Given the description of an element on the screen output the (x, y) to click on. 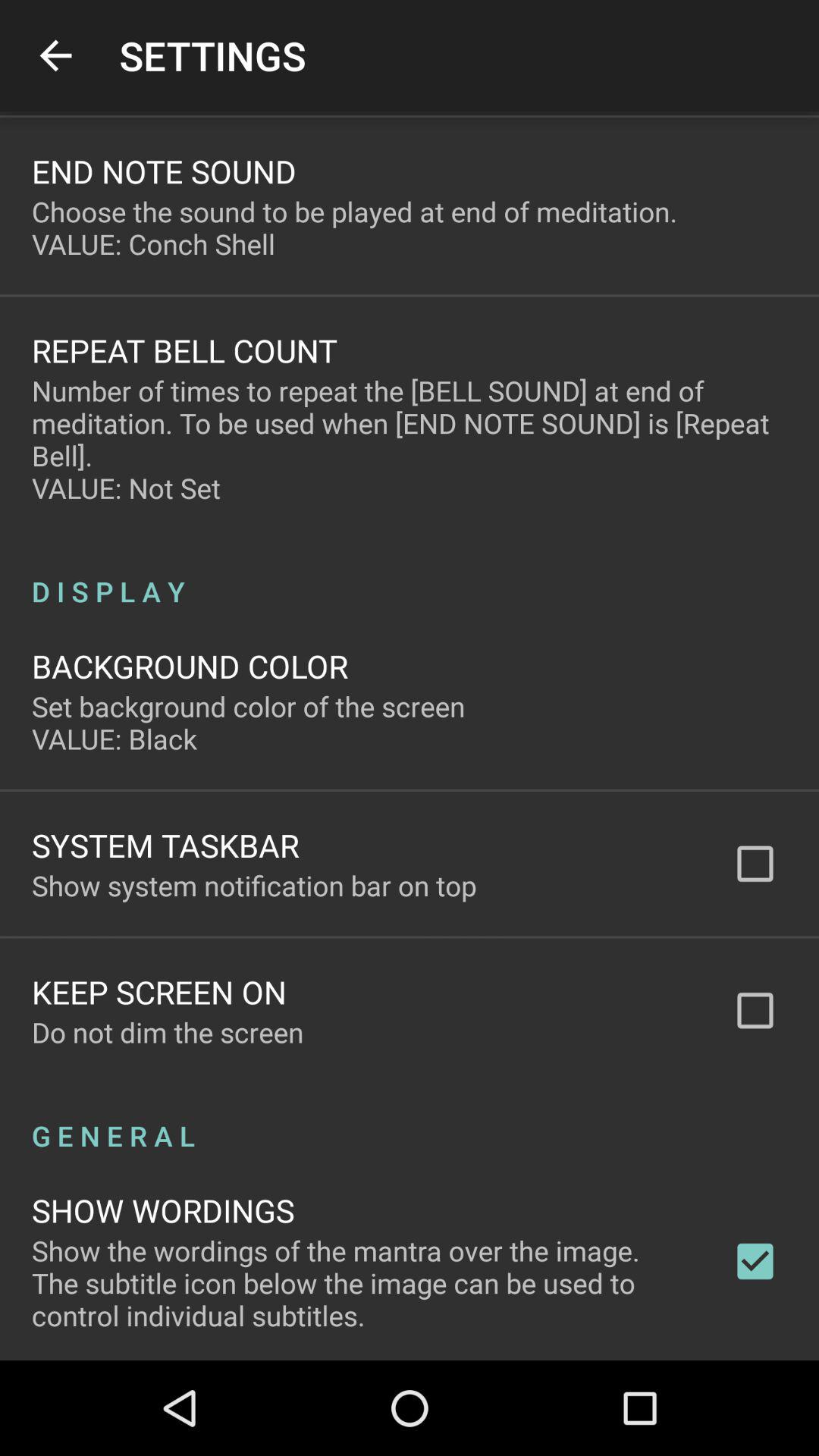
click the d i s icon (409, 575)
